Given the description of an element on the screen output the (x, y) to click on. 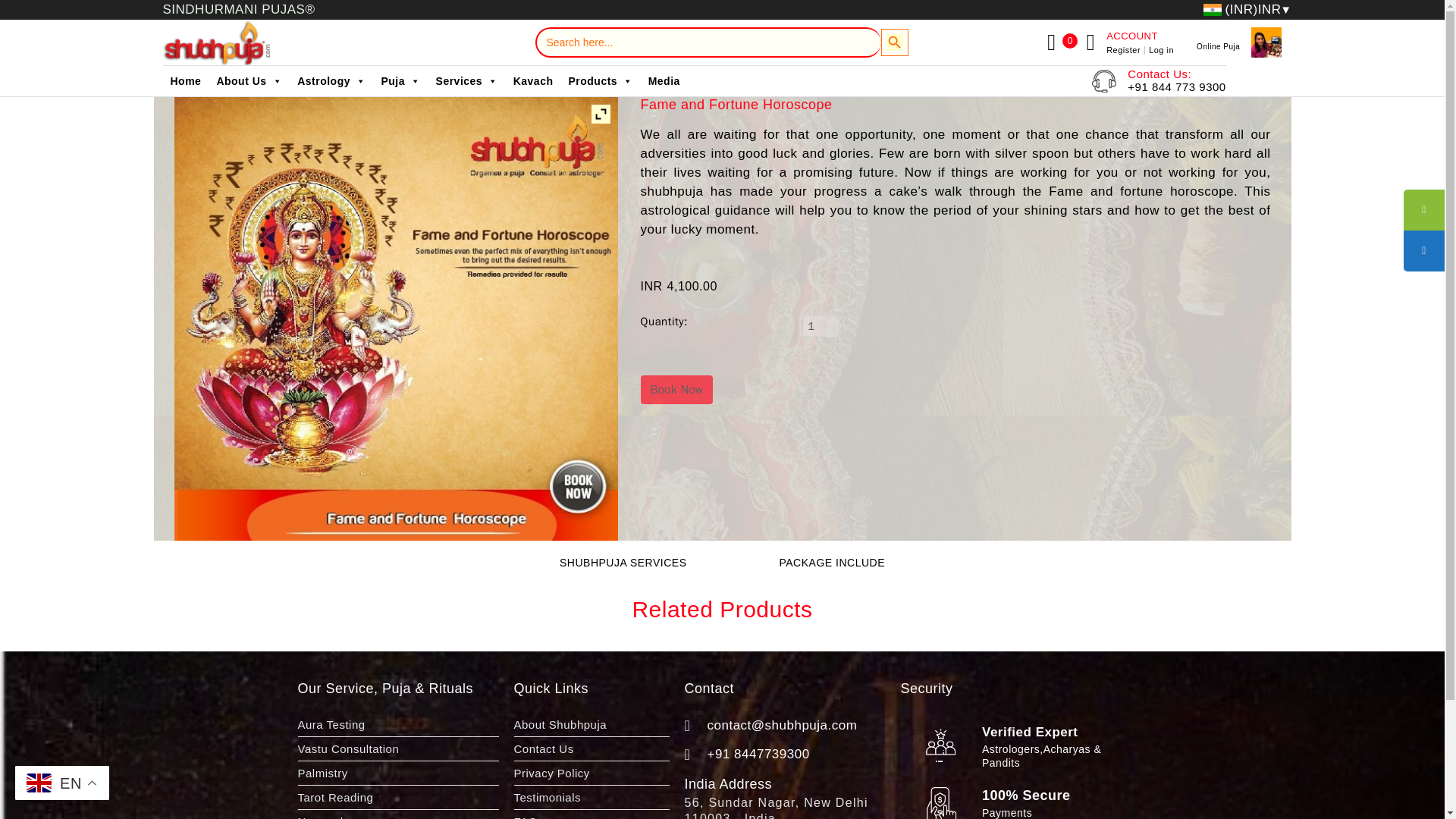
1 (821, 325)
Search Button (894, 42)
Log in (1160, 49)
Puja (400, 81)
Register (1125, 49)
Online Puja (1218, 46)
About Us (248, 81)
Home (184, 81)
Astrology (330, 81)
